Given the description of an element on the screen output the (x, y) to click on. 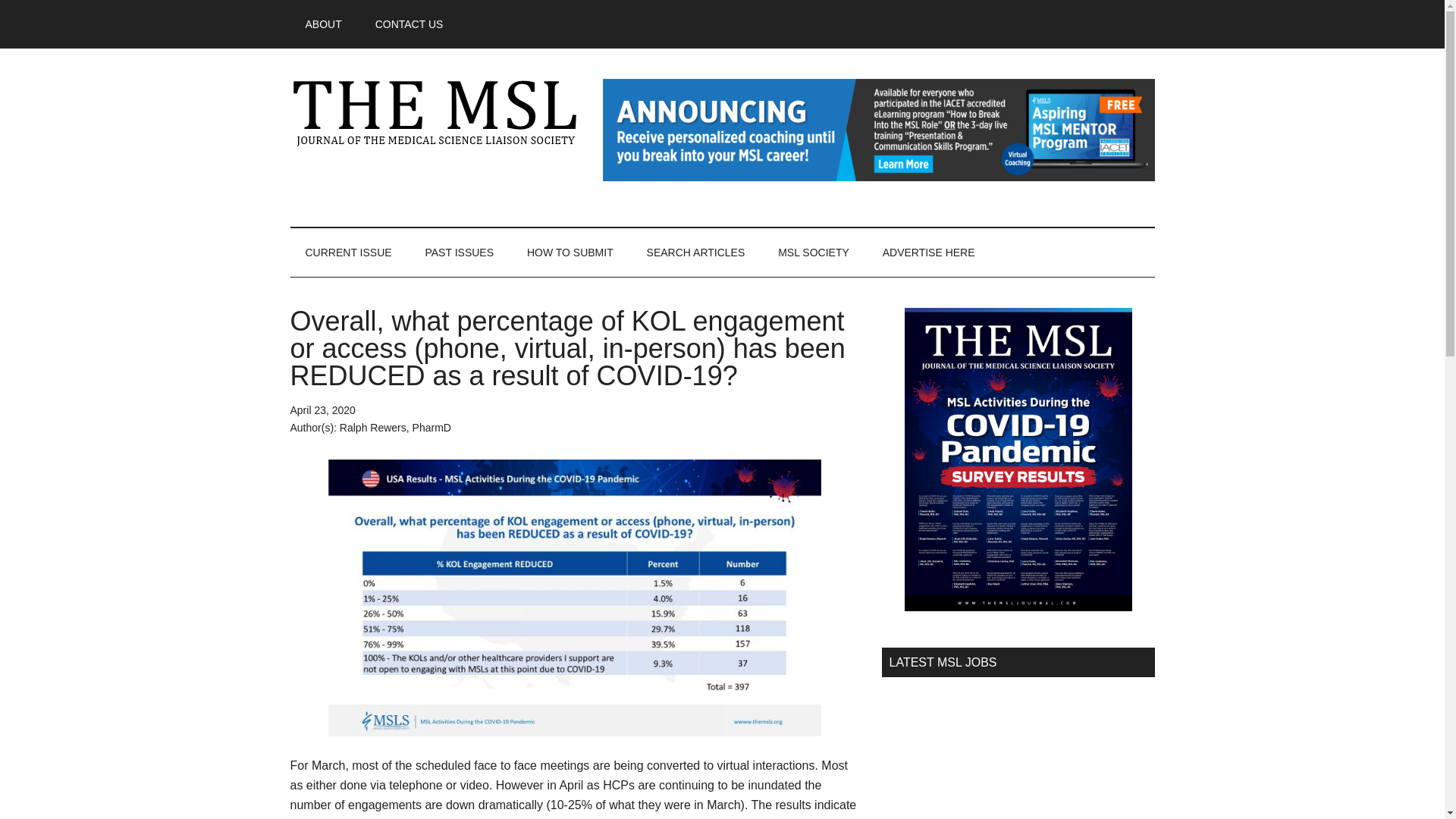
CONTACT US (408, 24)
SEARCH ARTICLES (695, 252)
Posts by Ralph Rewers, PharmD (395, 427)
CURRENT ISSUE (347, 252)
ADVERTISE HERE (928, 252)
PAST ISSUES (458, 252)
ABOUT (322, 24)
HOW TO SUBMIT (570, 252)
THE MSL (433, 112)
Ralph Rewers, PharmD (395, 427)
MSL SOCIETY (813, 252)
